Given the description of an element on the screen output the (x, y) to click on. 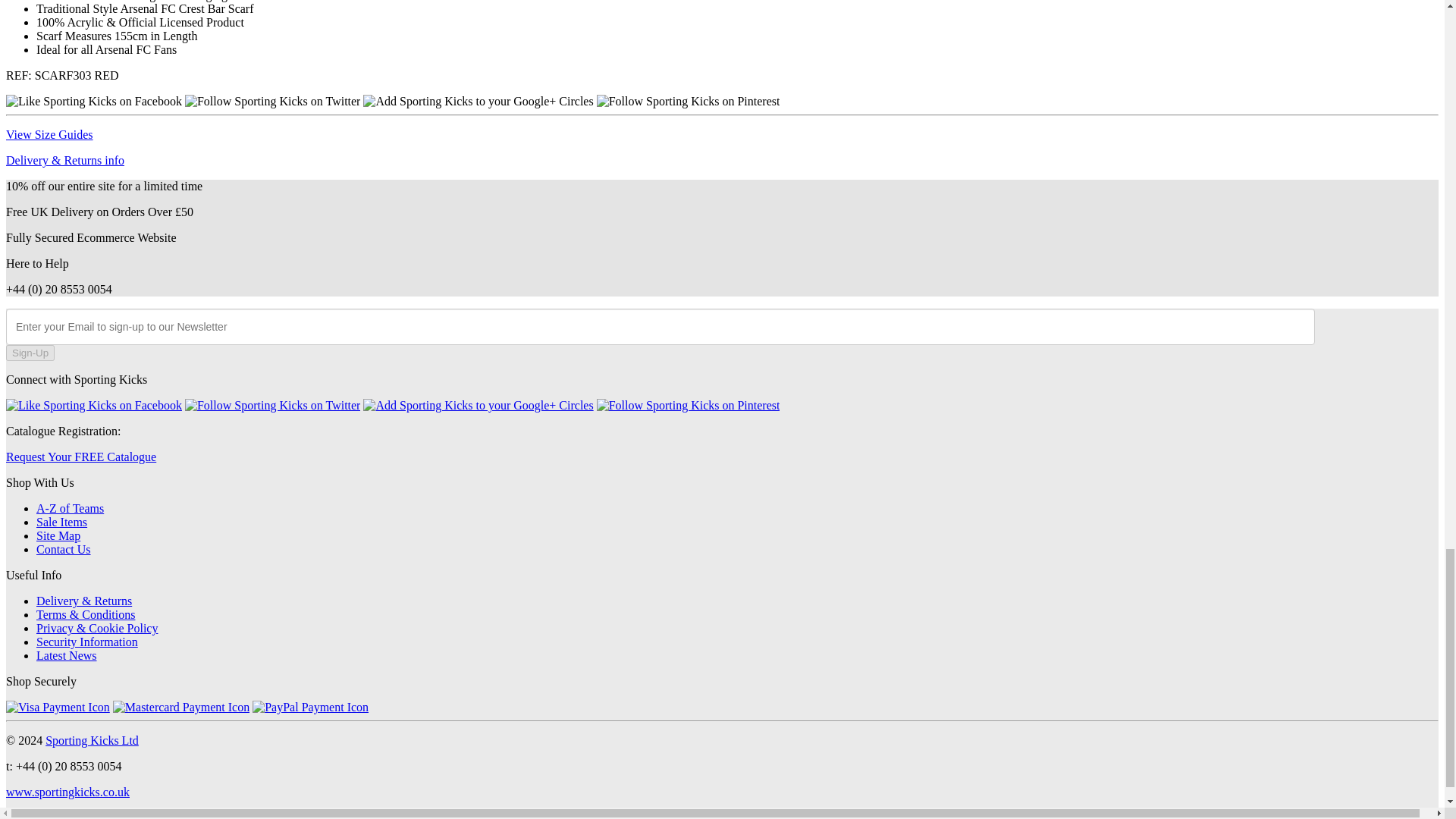
Pay with Mastercard (180, 707)
Follow Sporting Kicks on Pinterest (688, 405)
Like Sporting Kicks on Facebook (93, 405)
Follow Sporting Kicks on Twitter (271, 101)
Follow Sporting Kicks on Twitter (271, 405)
Follow Sporting Kicks on Pinterest (688, 101)
Pay with Visa (57, 707)
Like Sporting Kicks on Facebook (93, 101)
